Given the description of an element on the screen output the (x, y) to click on. 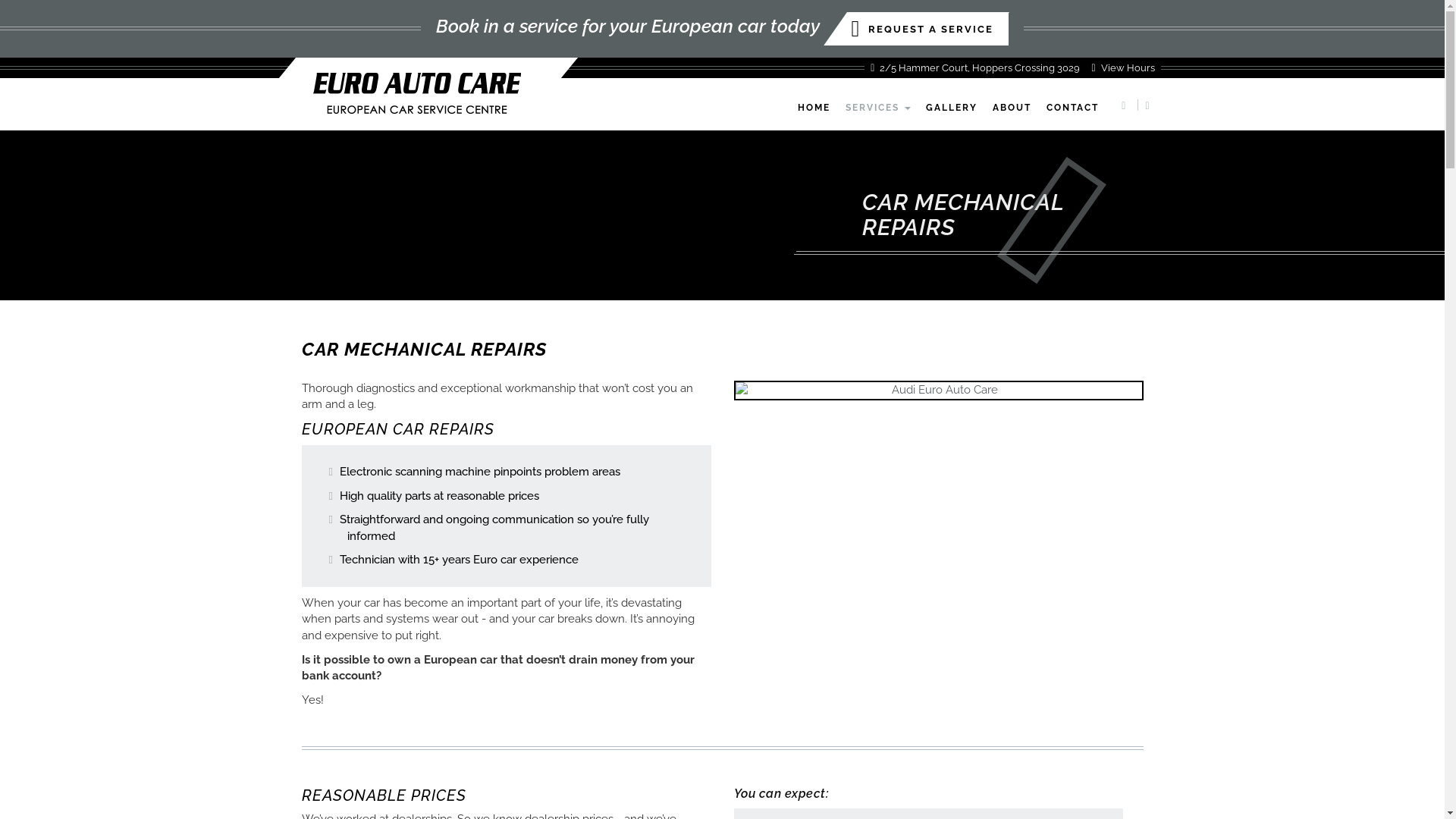
CONTACT Element type: text (1072, 108)
View Hours Element type: text (1122, 68)
GALLERY Element type: text (951, 108)
HOME Element type: text (813, 108)
ABOUT Element type: text (1011, 108)
REQUEST A SERVICE Element type: text (928, 28)
2/5 Hammer Court, Hoppers Crossing 3029 Element type: text (974, 68)
SERVICES Element type: text (877, 108)
